Given the description of an element on the screen output the (x, y) to click on. 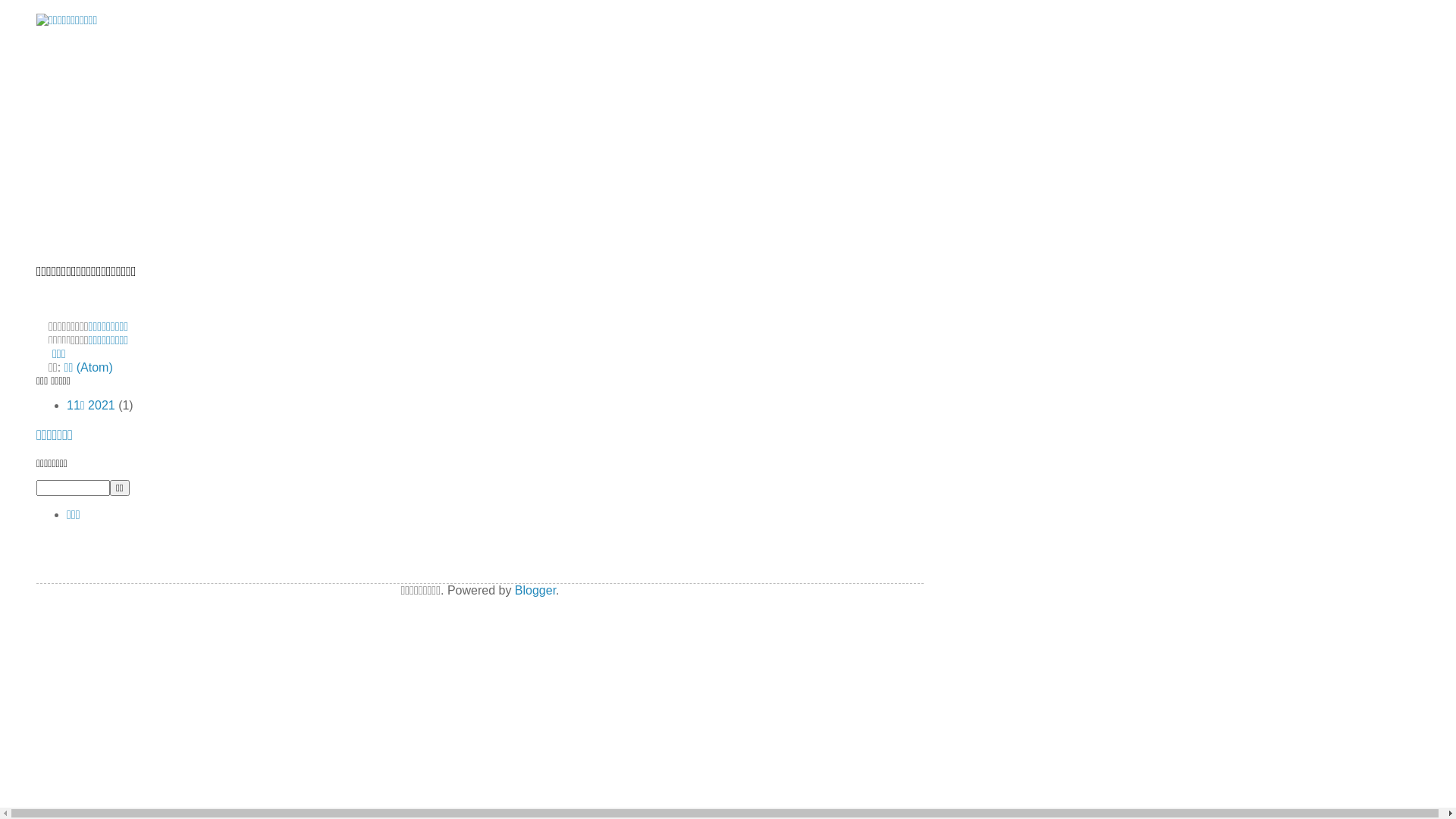
search Element type: hover (72, 487)
search Element type: hover (119, 487)
Blogger Element type: text (534, 589)
